Given the description of an element on the screen output the (x, y) to click on. 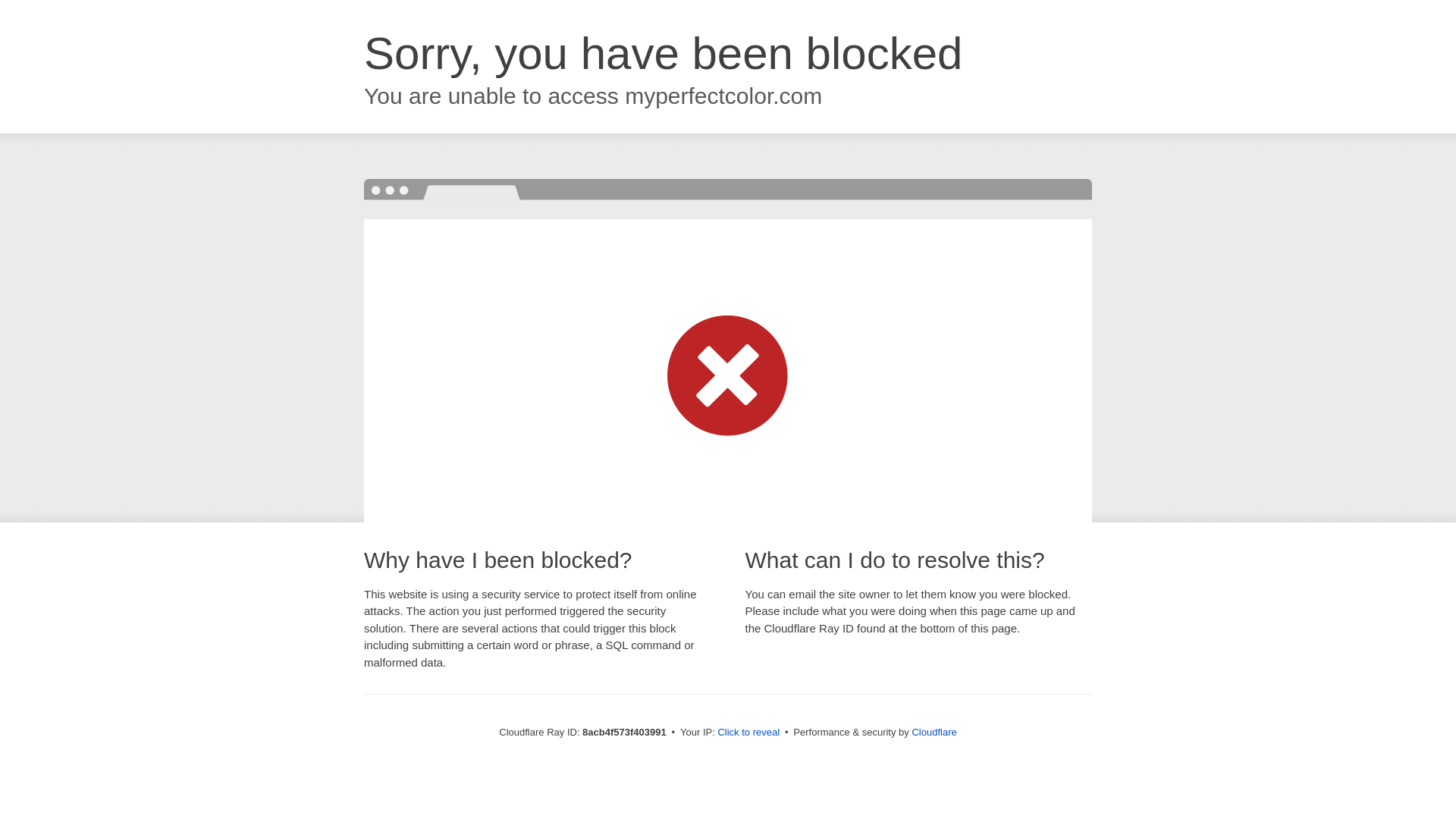
Click to reveal (747, 732)
Cloudflare (933, 731)
